Given the description of an element on the screen output the (x, y) to click on. 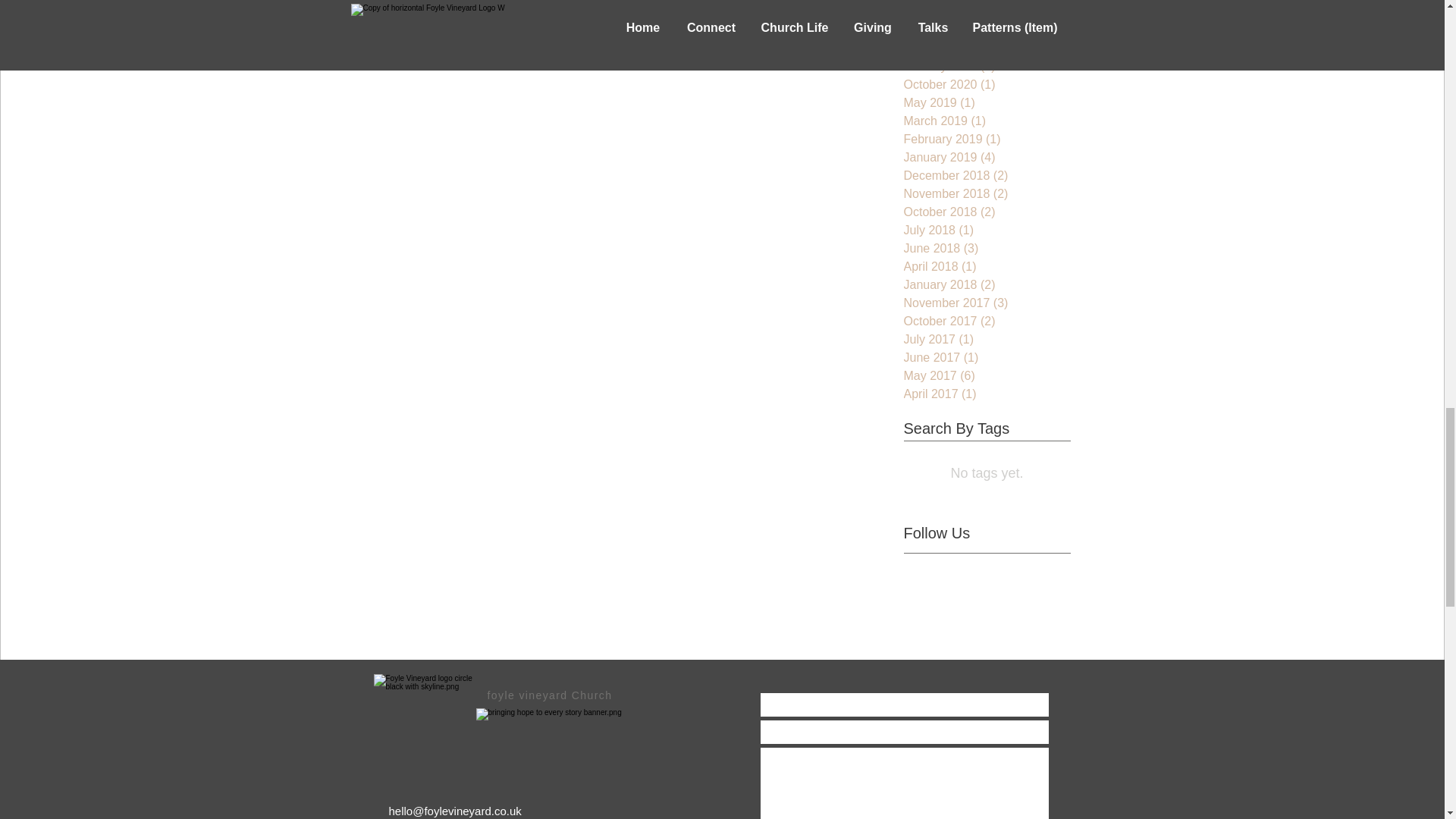
Post not marked as liked (834, 4)
